Given the description of an element on the screen output the (x, y) to click on. 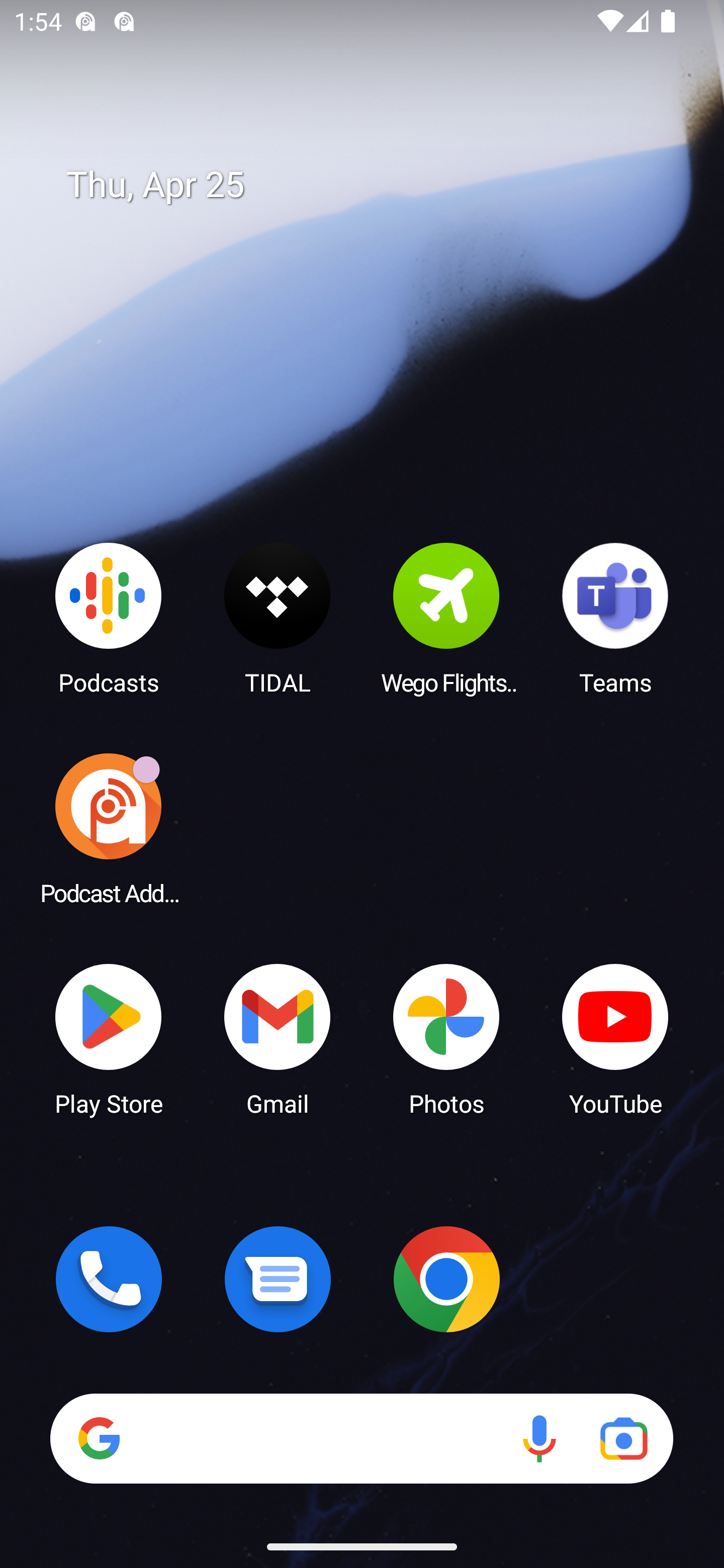
Thu, Apr 25 (375, 184)
Podcasts (108, 617)
TIDAL (277, 617)
Wego Flights & Hotels (445, 617)
Teams (615, 617)
Play Store (108, 1038)
Gmail (277, 1038)
Photos (445, 1038)
YouTube (615, 1038)
Phone (108, 1279)
Messages (277, 1279)
Chrome (446, 1279)
Search Voice search Google Lens (361, 1438)
Voice search (539, 1438)
Google Lens (623, 1438)
